Given the description of an element on the screen output the (x, y) to click on. 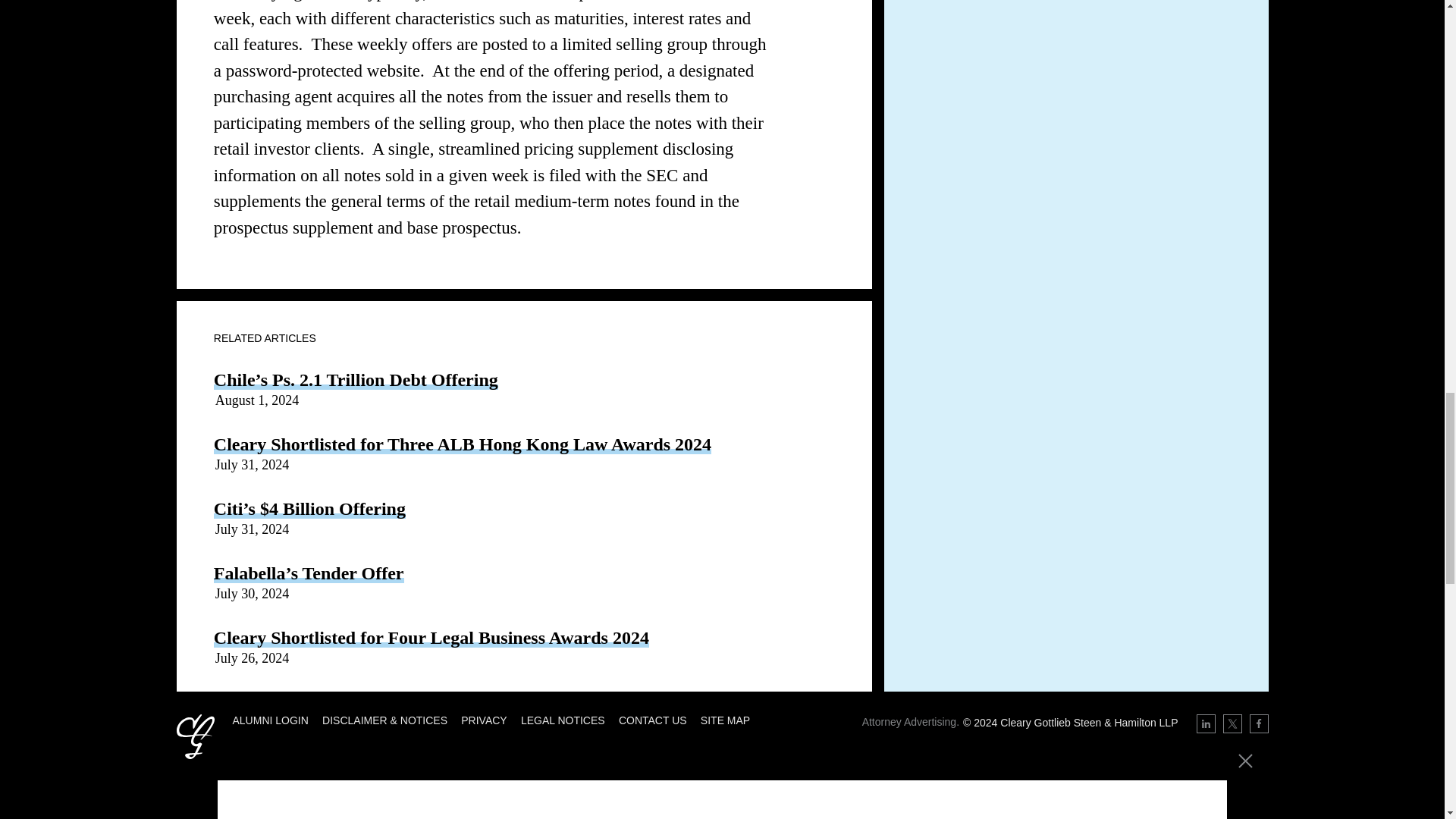
Contact Us (652, 720)
Alumni Login (269, 720)
Site Map (724, 720)
Privacy (483, 720)
Legal Notices (563, 720)
